Given the description of an element on the screen output the (x, y) to click on. 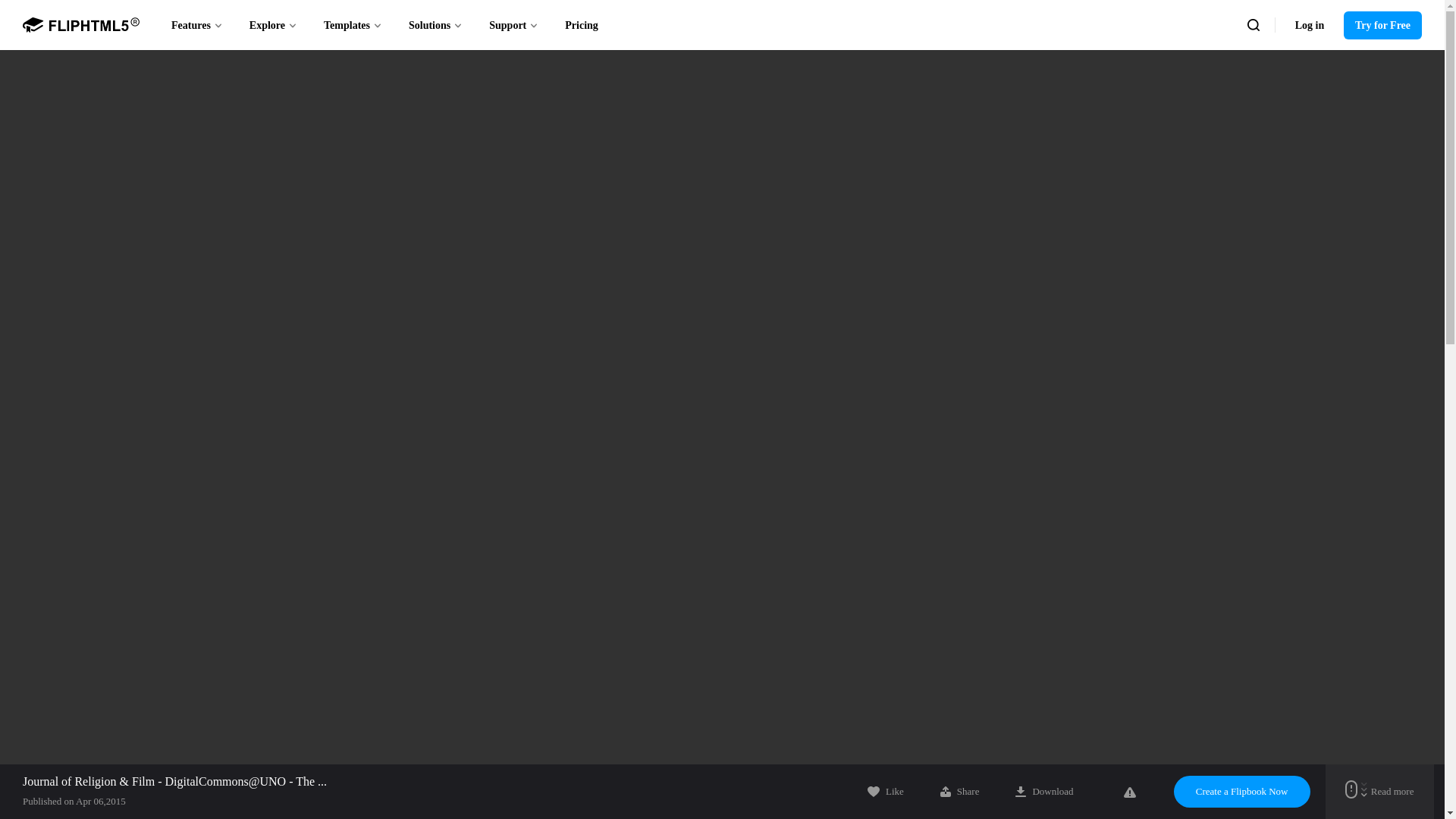
Add to My Favorites (885, 791)
Explore (272, 24)
Features (196, 24)
The publisher doesn't allow readers to download this book. (1043, 791)
